Given the description of an element on the screen output the (x, y) to click on. 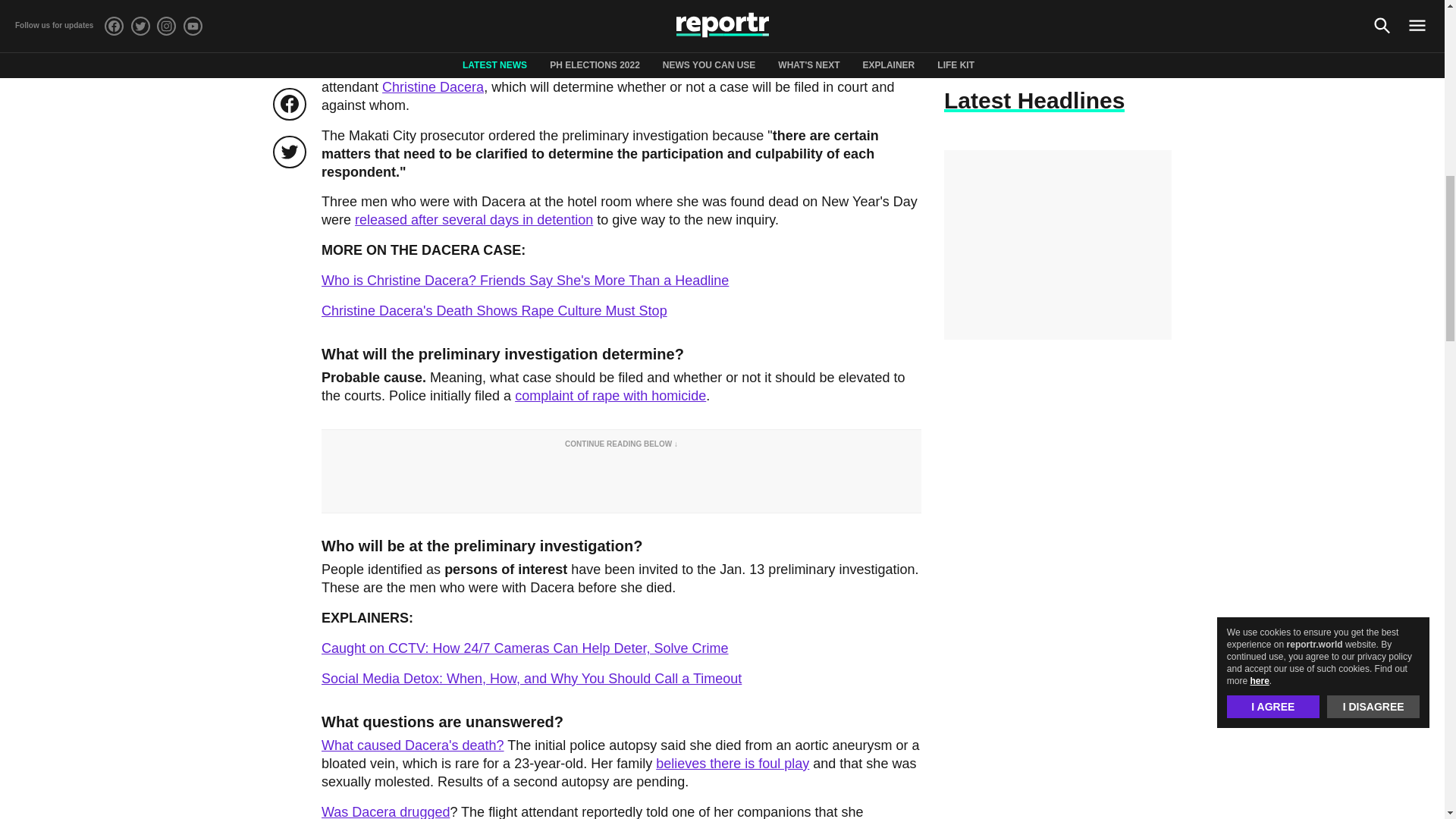
Christine Dacera (432, 87)
released after several days in detention (473, 219)
complaint of rape with homicide (610, 395)
Christine Dacera's Death Shows Rape Culture Must Stop (493, 310)
